Given the description of an element on the screen output the (x, y) to click on. 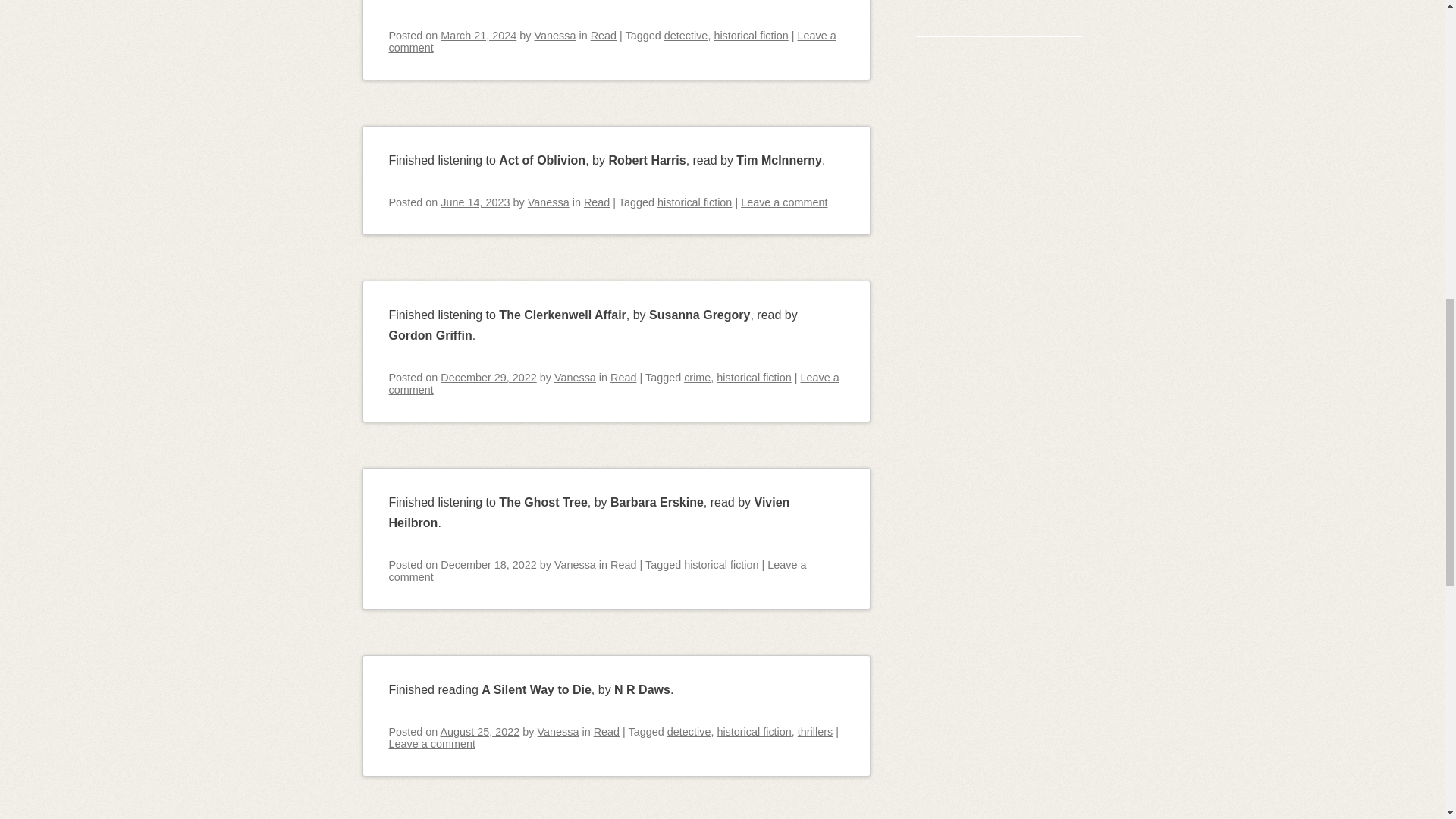
View all posts by Vanessa (574, 377)
Vanessa (555, 35)
View all posts by Vanessa (548, 202)
Leave a comment (613, 383)
2:13 pm (488, 377)
Read (623, 377)
December 29, 2022 (488, 377)
2:54 pm (475, 202)
5:08 am (478, 35)
Leave a comment (784, 202)
View all posts by Vanessa (555, 35)
Vanessa (574, 564)
historical fiction (750, 35)
historical fiction (695, 202)
Leave a comment (611, 41)
